Given the description of an element on the screen output the (x, y) to click on. 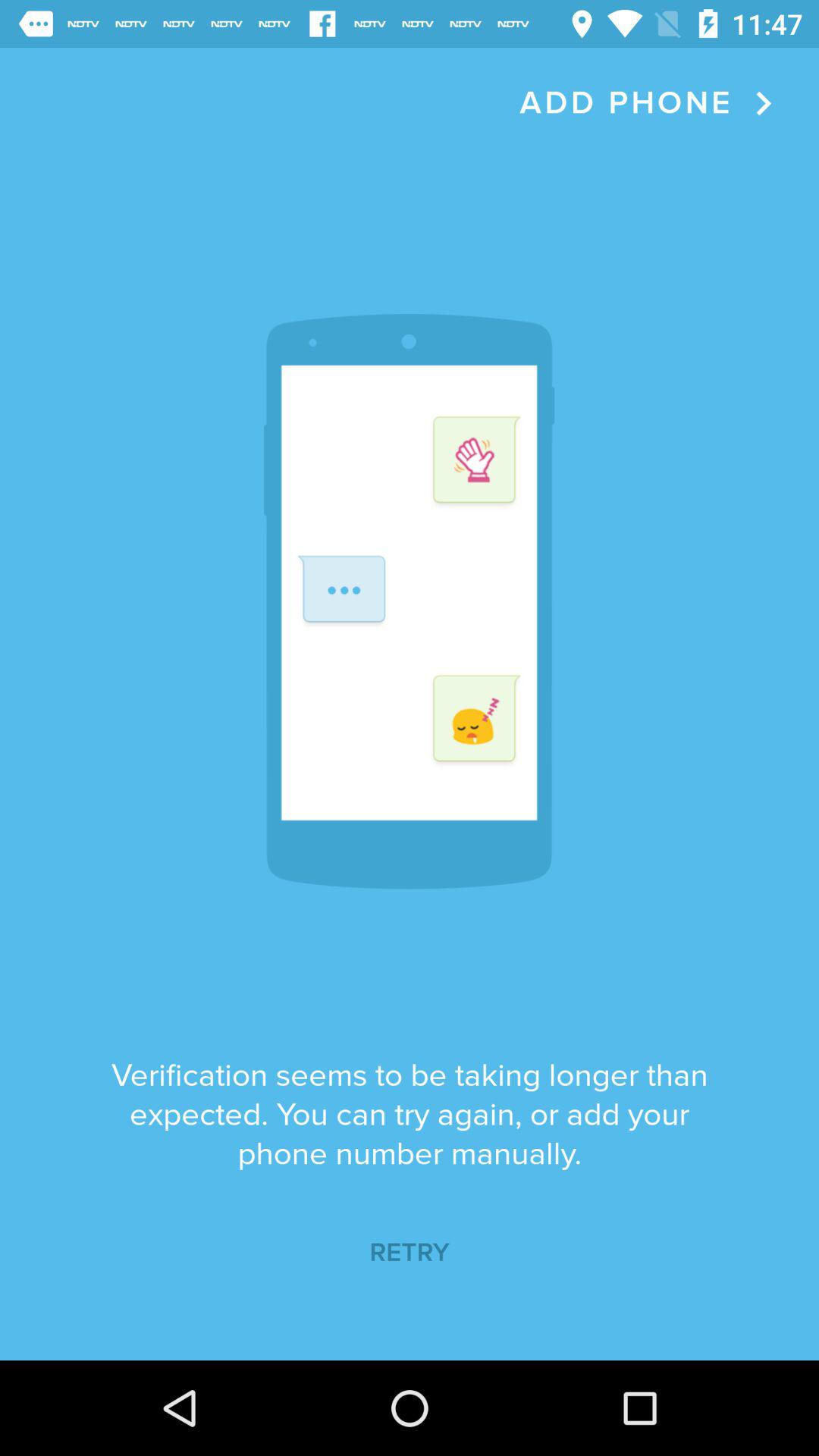
tap retry icon (409, 1252)
